Given the description of an element on the screen output the (x, y) to click on. 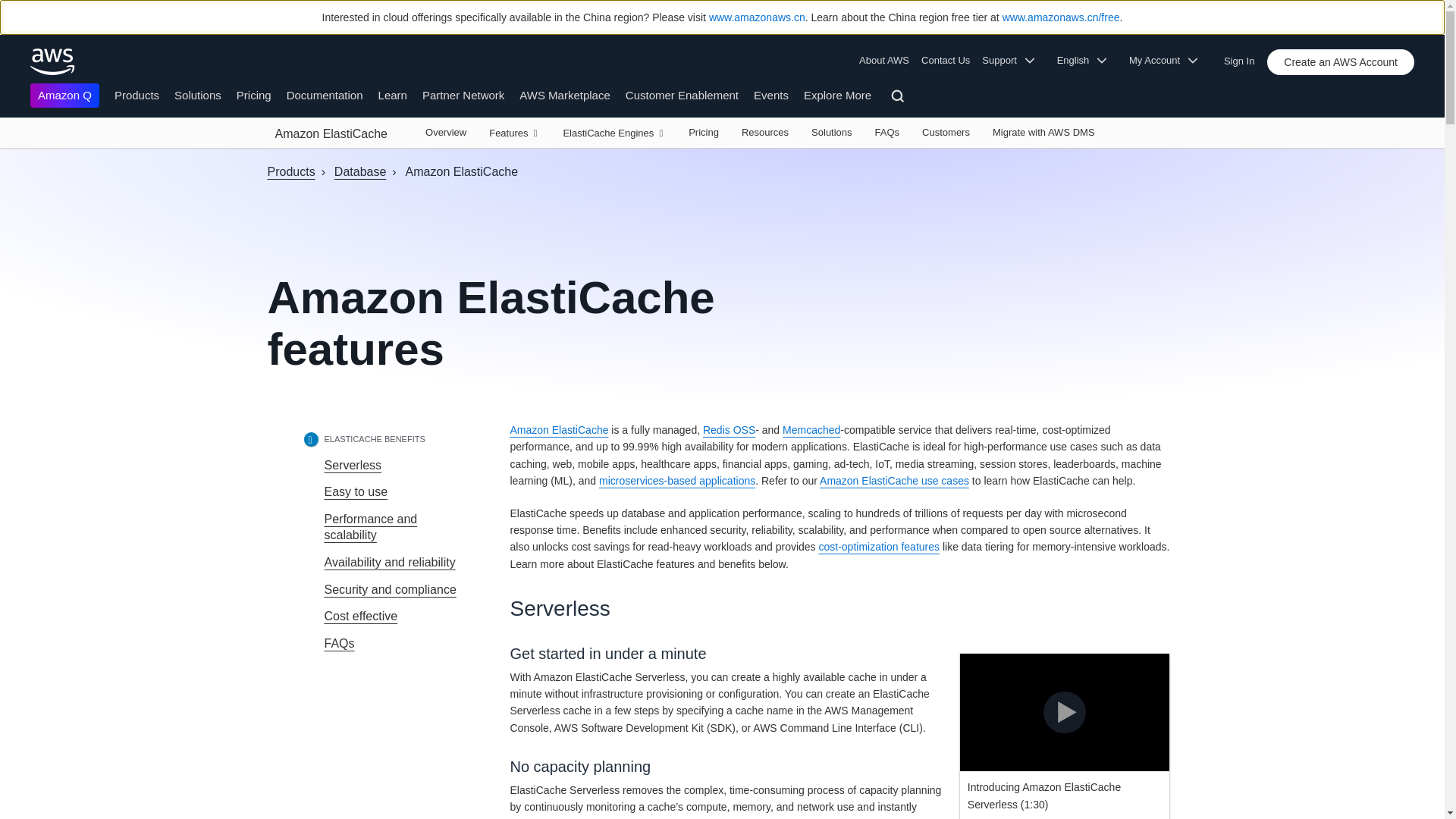
Contact Us (945, 60)
Skip to main content (7, 154)
Click here to return to Amazon Web Services homepage (52, 61)
Documentation (324, 94)
English   (1086, 60)
My Account   (1168, 60)
Events (771, 94)
Learn (392, 94)
Sign In (1243, 58)
Explore More (836, 94)
